Given the description of an element on the screen output the (x, y) to click on. 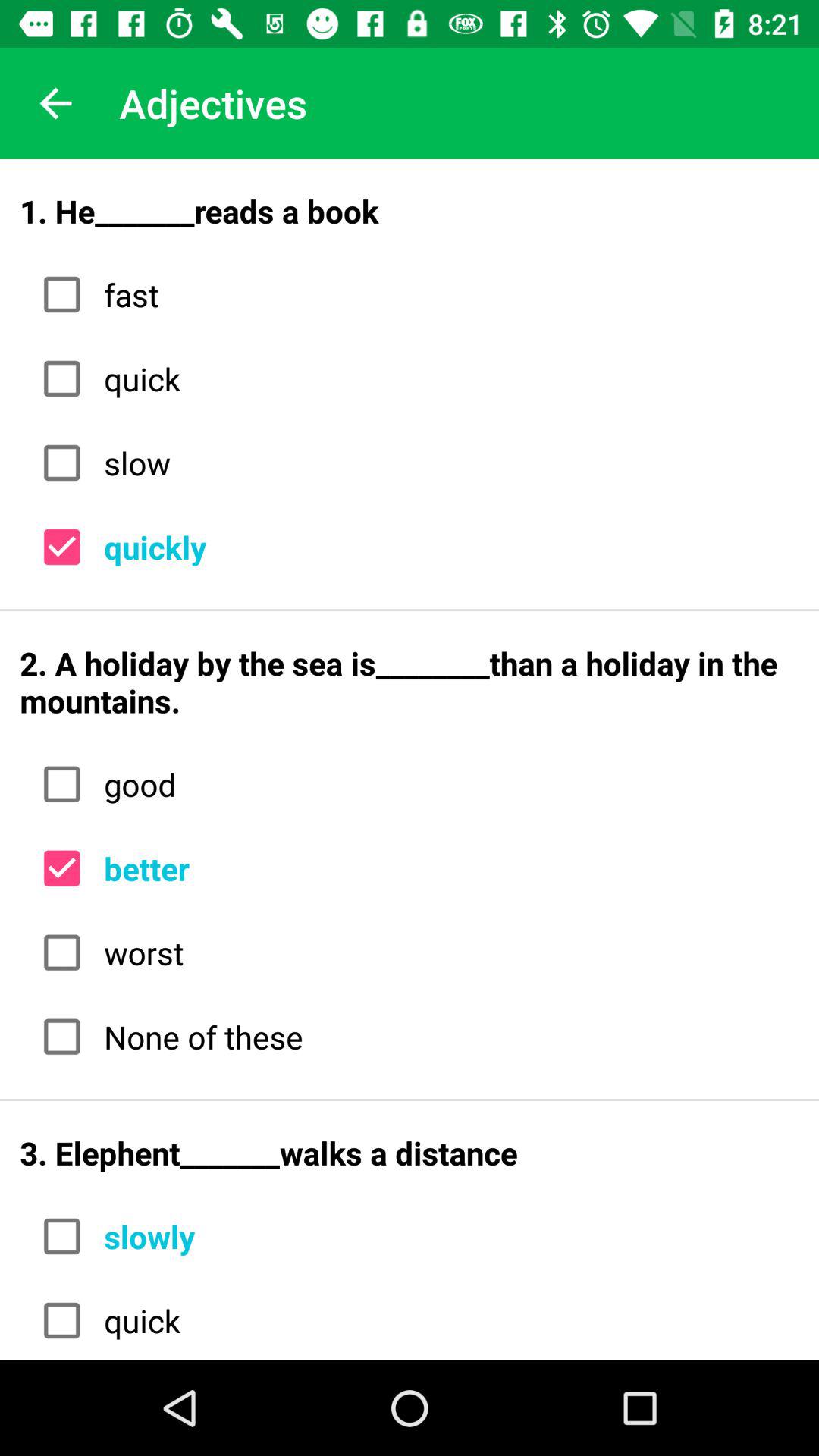
open item below better icon (446, 952)
